Given the description of an element on the screen output the (x, y) to click on. 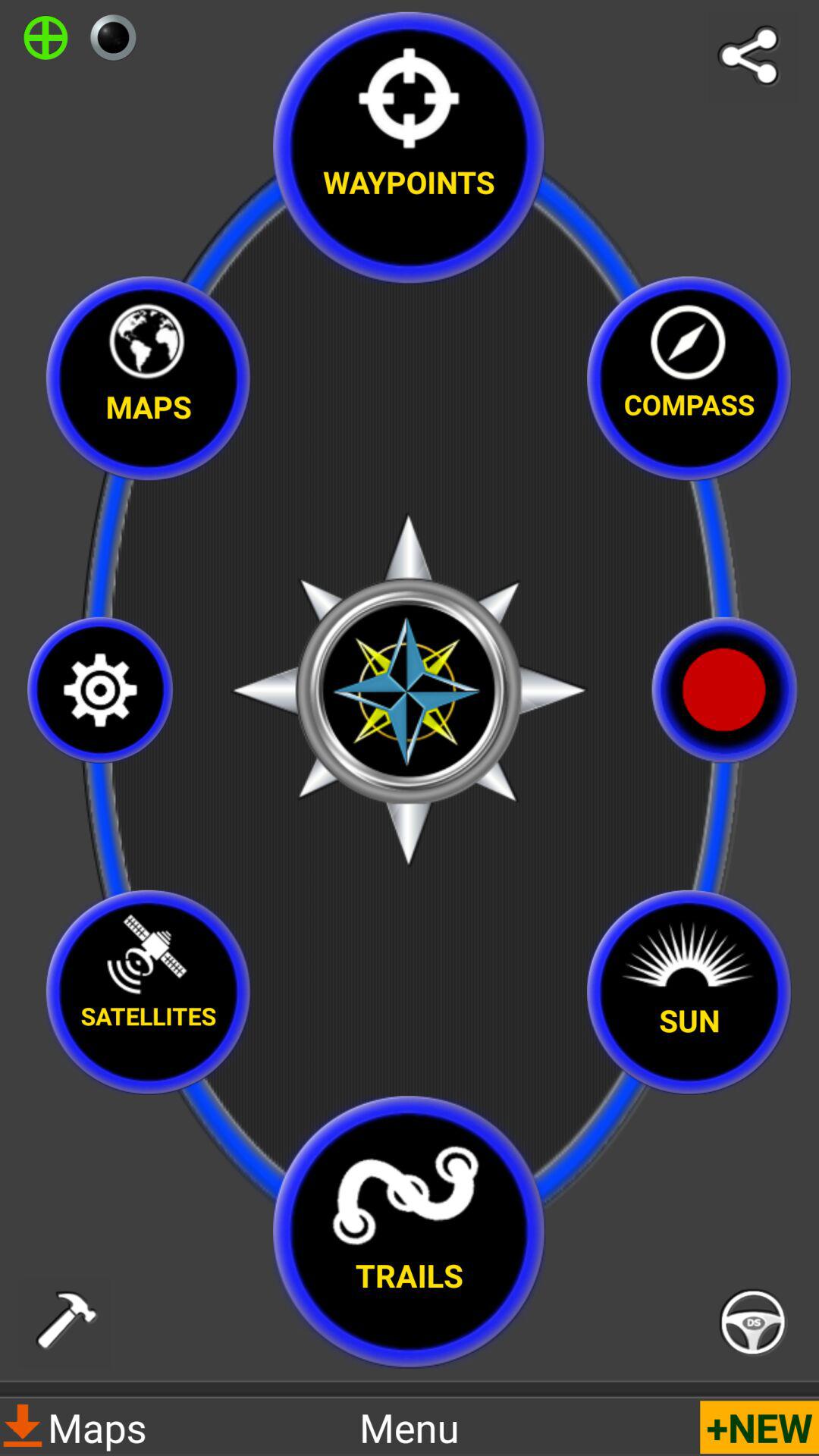
click on the settings icon above satellites (100, 689)
click on icon above waypoints (408, 90)
